Given the description of an element on the screen output the (x, y) to click on. 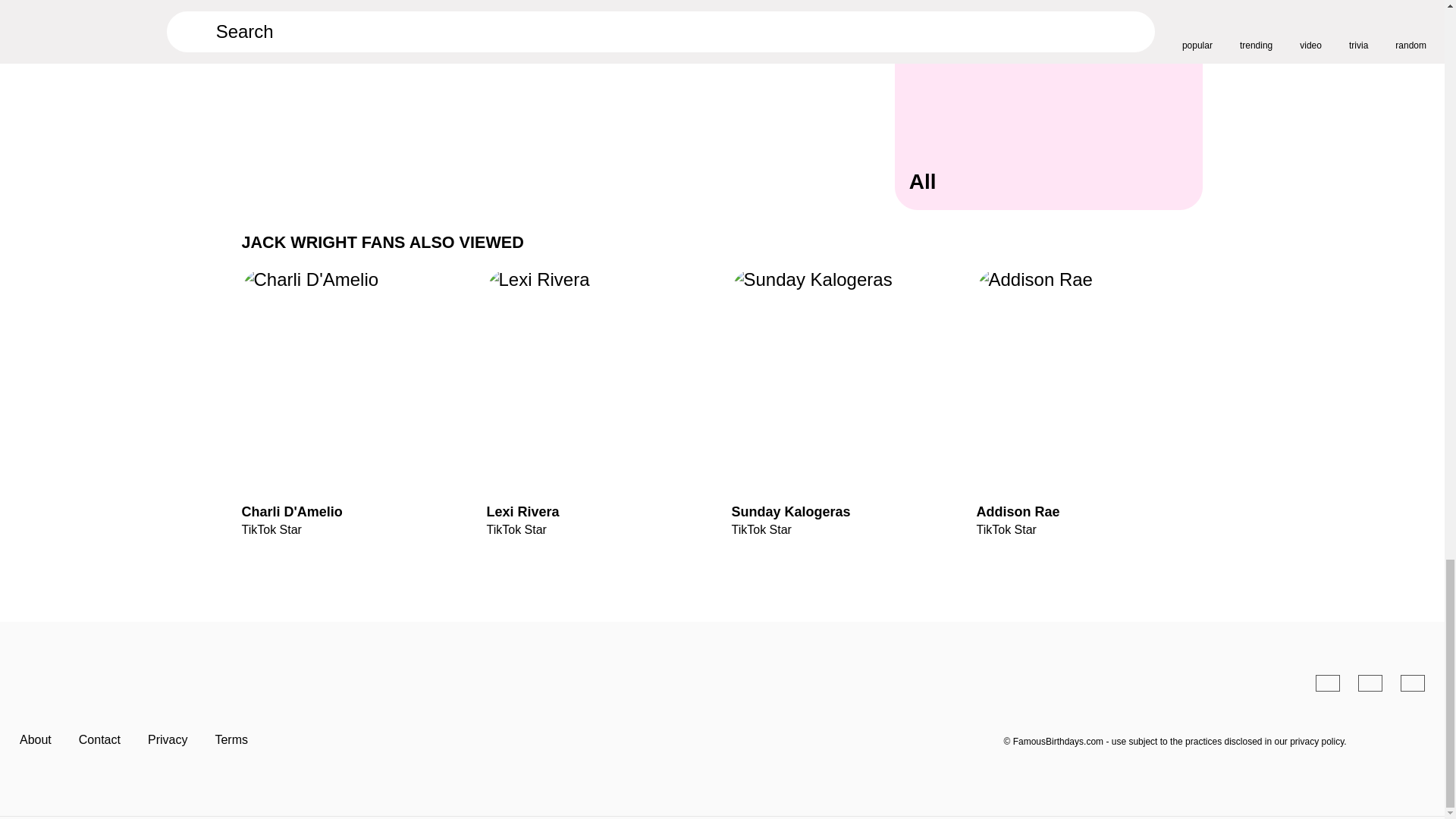
French (1412, 682)
All (1049, 123)
Portuguese (1369, 682)
Spanish (1327, 682)
